Given the description of an element on the screen output the (x, y) to click on. 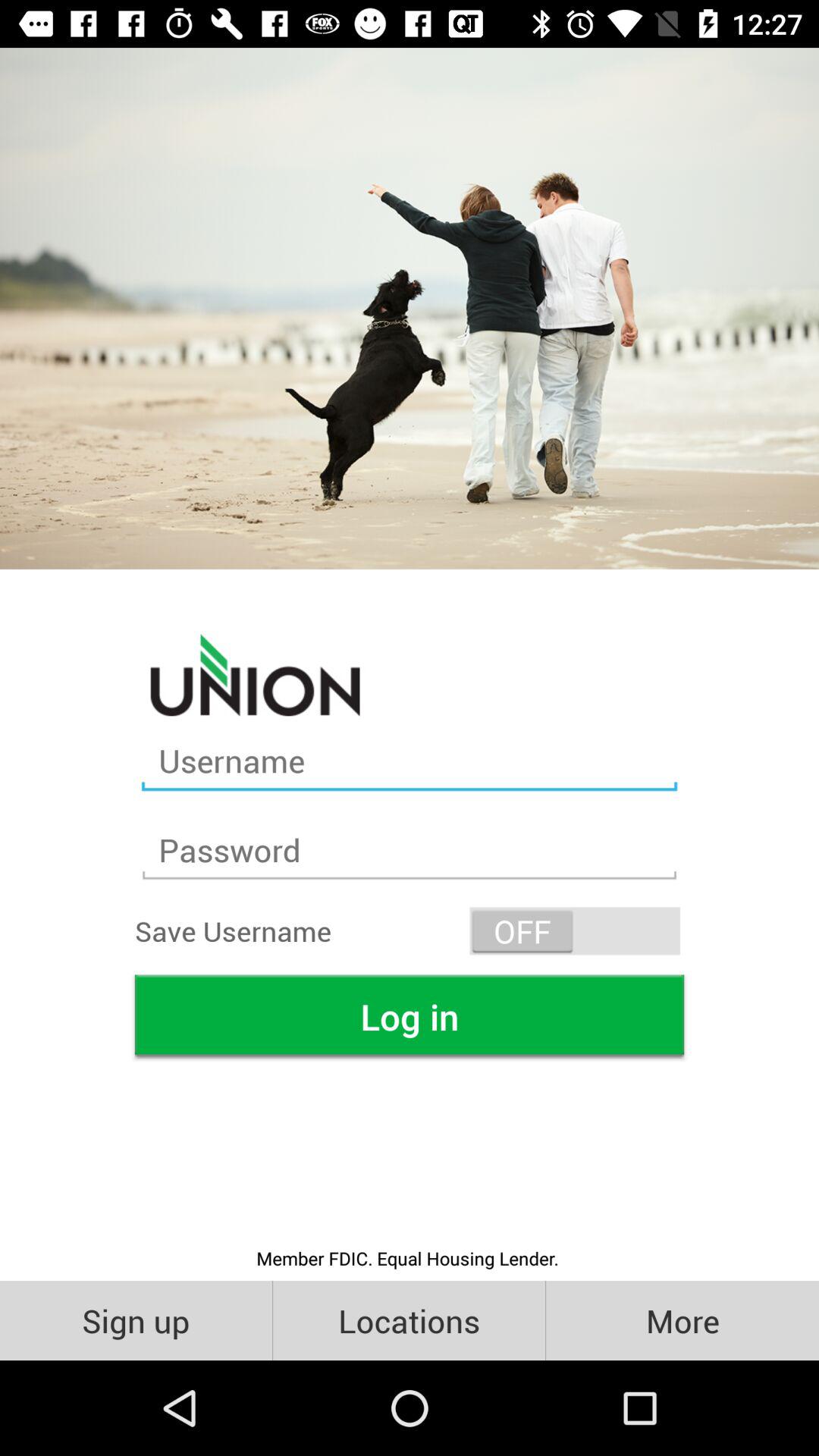
click the item next to the sign up (409, 1320)
